Given the description of an element on the screen output the (x, y) to click on. 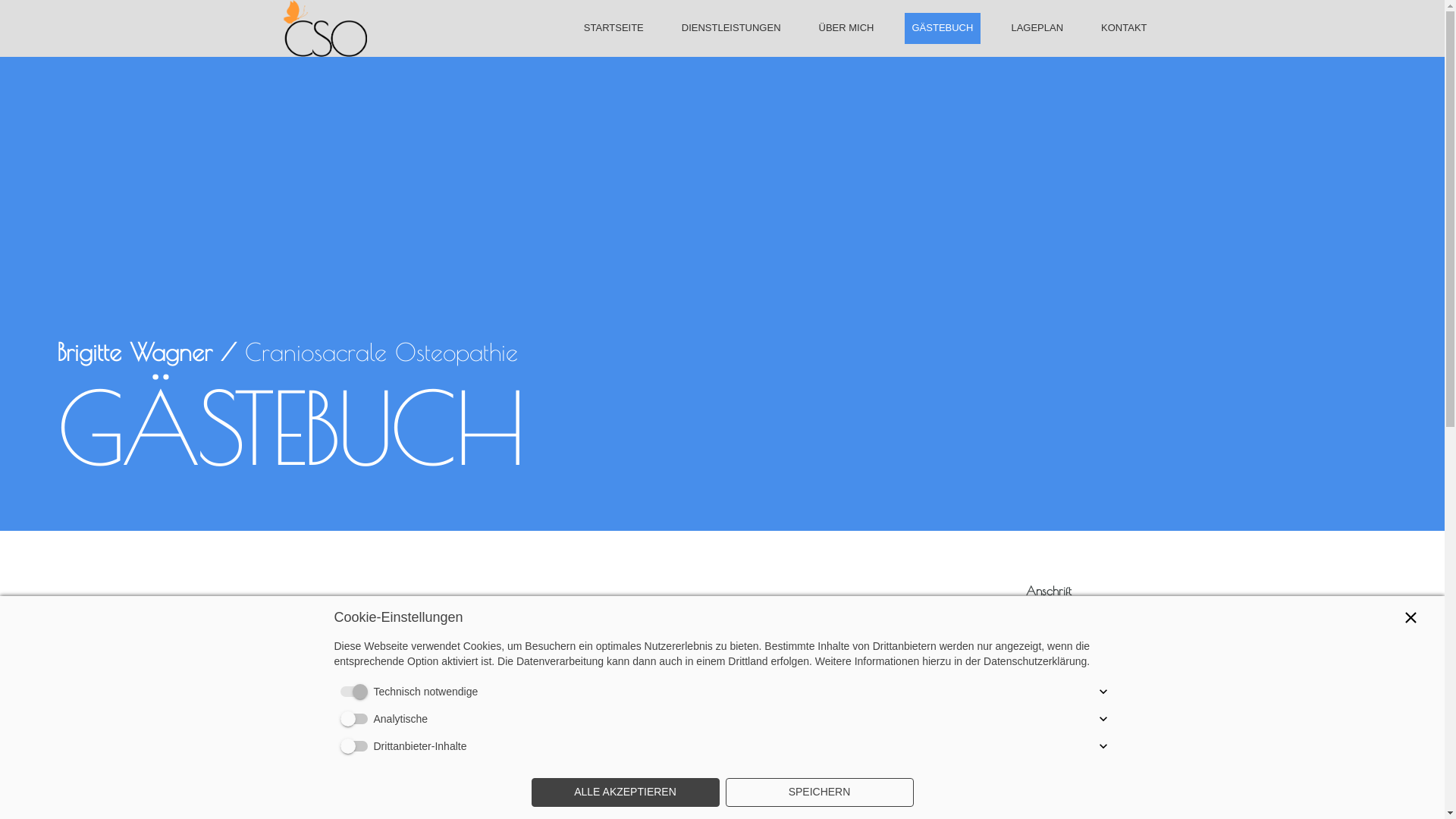
KONTAKT Element type: text (1123, 27)
bw@brigitte-wagner-cso-therapie.ch Element type: text (1080, 748)
LAGEPLAN Element type: text (1036, 27)
ALLE AKZEPTIEREN Element type: text (624, 792)
DIENSTLEISTUNGEN Element type: text (731, 27)
STARTSEITE Element type: text (613, 27)
SPEICHERN Element type: text (818, 792)
